Given the description of an element on the screen output the (x, y) to click on. 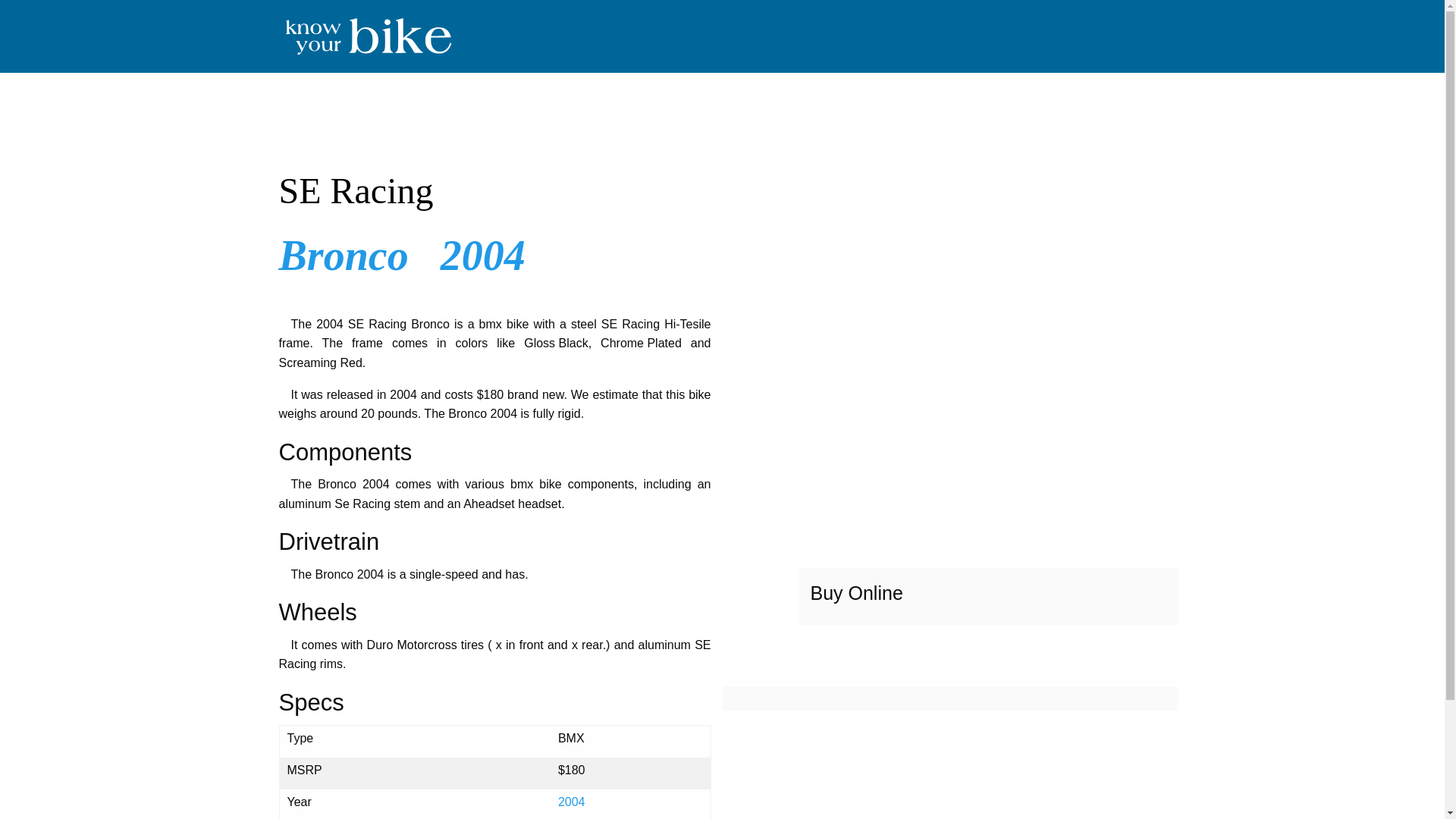
2004 (571, 801)
2004 (483, 255)
Bronco (344, 255)
SE Racing (495, 190)
